Given the description of an element on the screen output the (x, y) to click on. 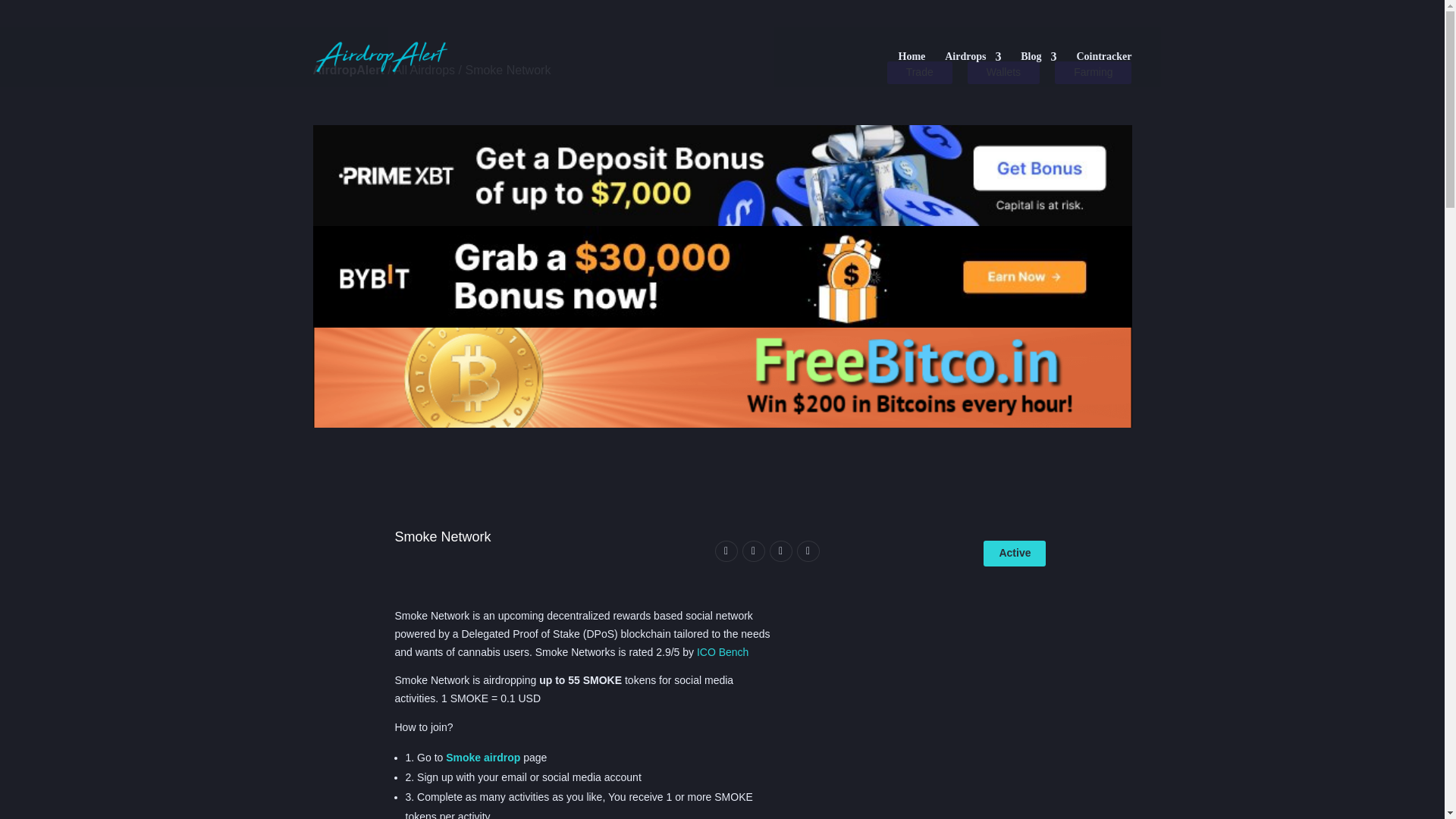
Blog (1038, 68)
Cointracker (1103, 68)
Trade (919, 72)
ICO Bench (722, 652)
All Airdrops (423, 69)
Farming (1092, 72)
Airdrops (972, 68)
Smoke airdrop (483, 757)
AirdropAlert (348, 69)
Wallets (1003, 72)
